Given the description of an element on the screen output the (x, y) to click on. 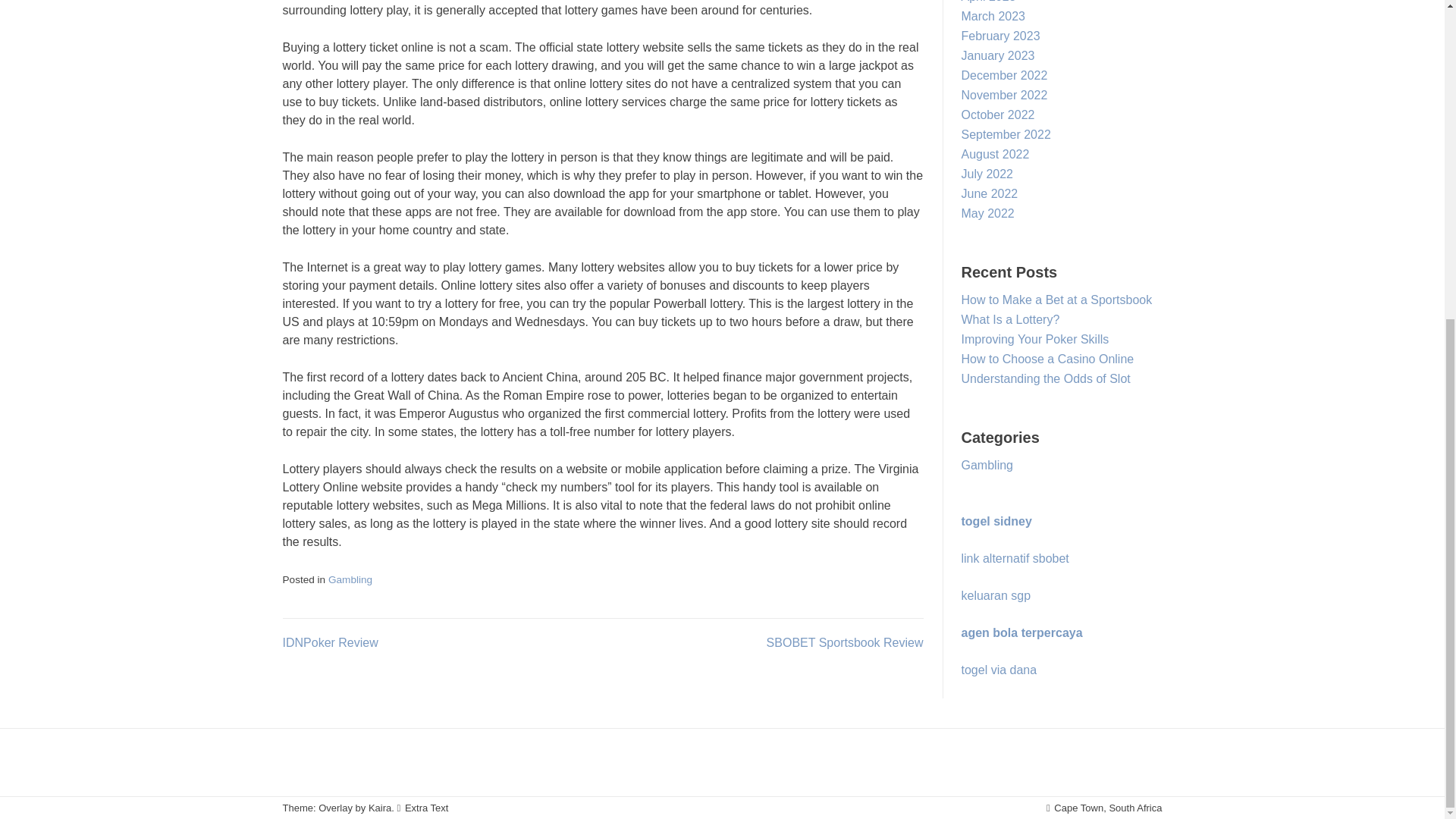
September 2022 (1005, 133)
SBOBET Sportsbook Review (845, 642)
August 2022 (994, 154)
March 2023 (993, 15)
April 2023 (988, 1)
What Is a Lottery? (1009, 318)
How to Make a Bet at a Sportsbook (1056, 299)
December 2022 (1004, 74)
January 2023 (997, 55)
Gambling (350, 579)
